Given the description of an element on the screen output the (x, y) to click on. 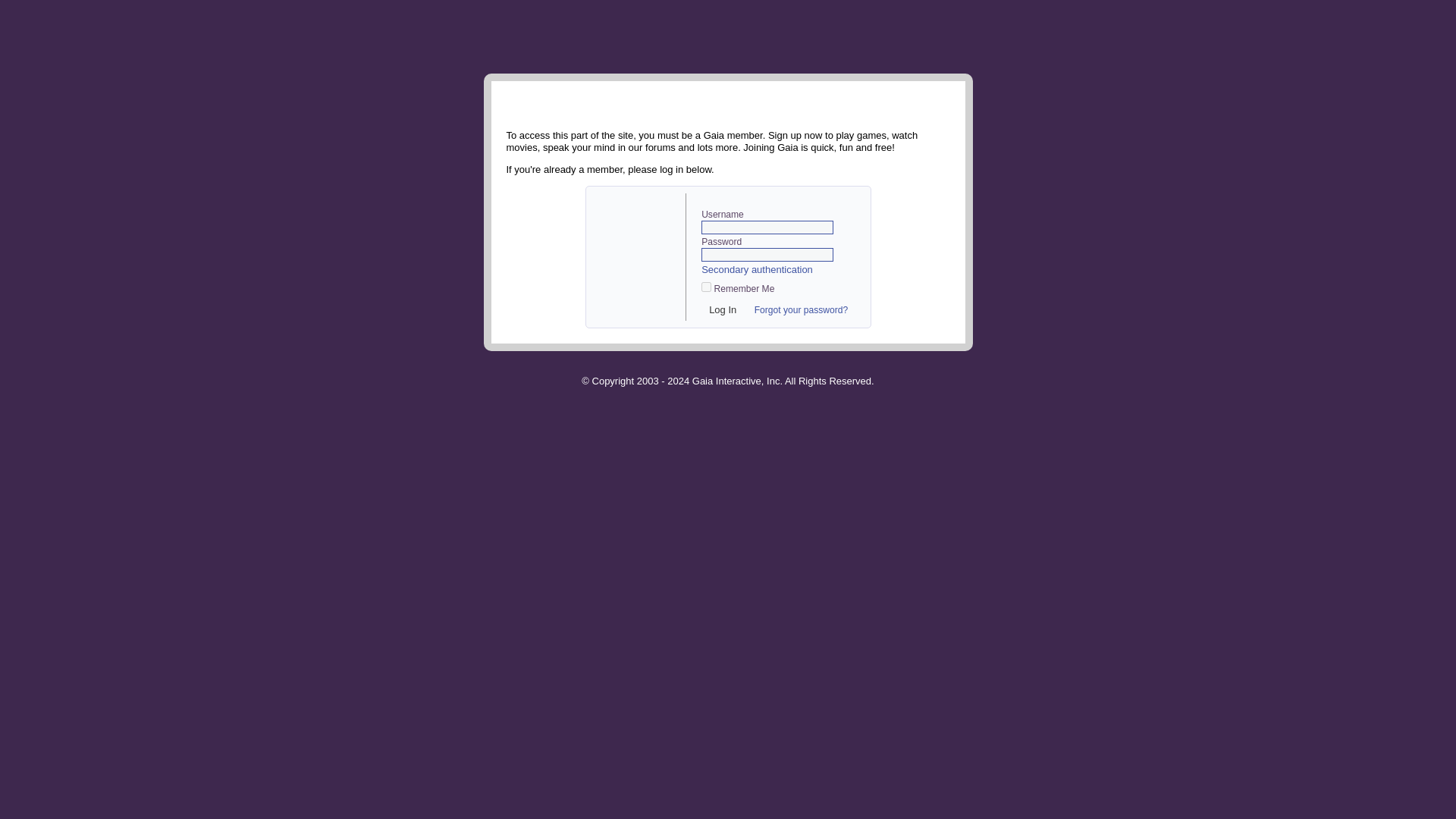
Return to the Gaia Homepage (537, 36)
Register (637, 250)
on (706, 286)
Secondary authentication (756, 269)
Forgot your password? (801, 309)
Log In (722, 310)
Return to the Gaia Homepage (537, 36)
